Given the description of an element on the screen output the (x, y) to click on. 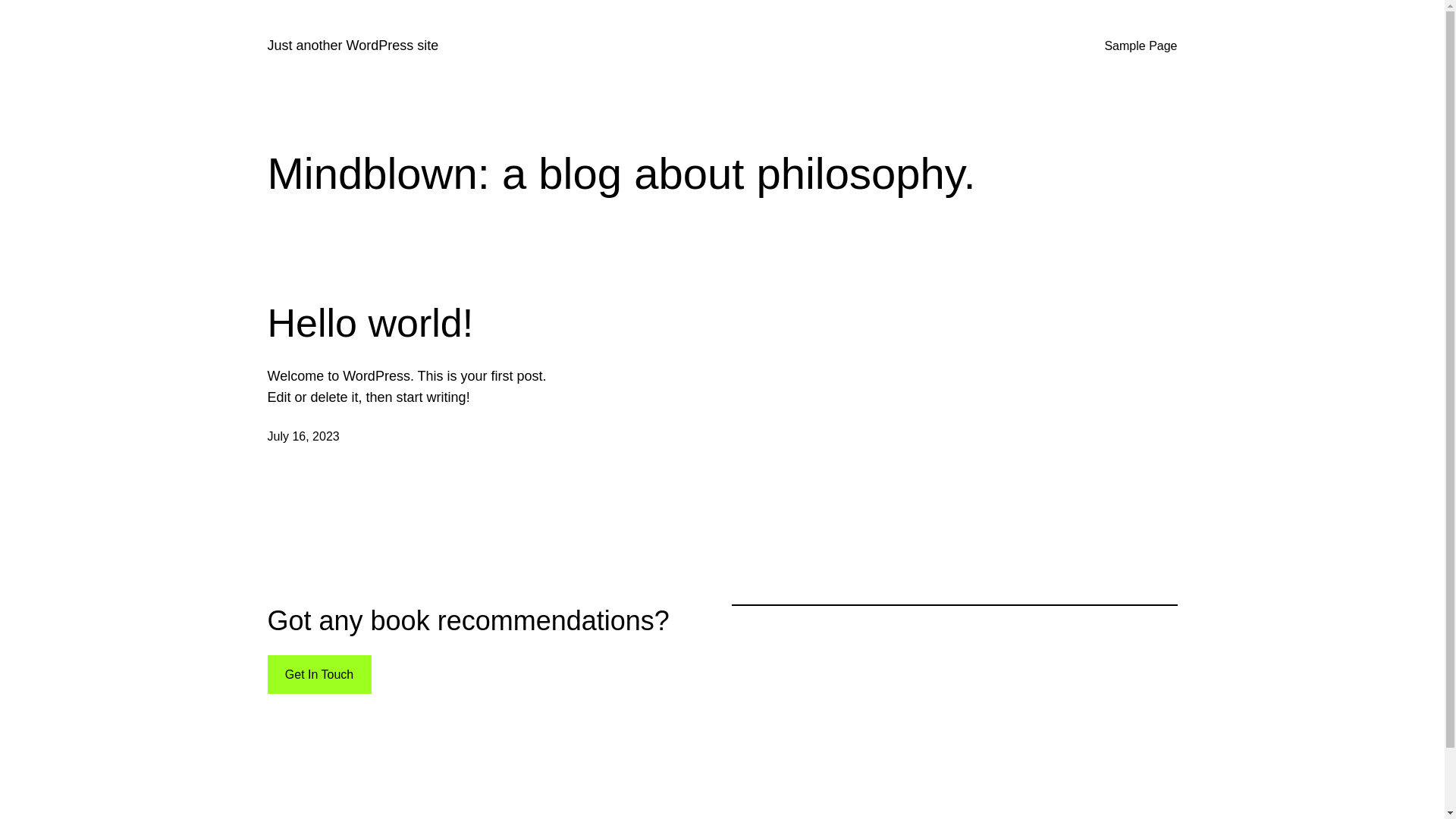
Hello world! Element type: text (369, 322)
Just another WordPress site Element type: text (352, 45)
Sample Page Element type: text (1140, 46)
July 16, 2023 Element type: text (302, 435)
Get In Touch Element type: text (318, 674)
